Given the description of an element on the screen output the (x, y) to click on. 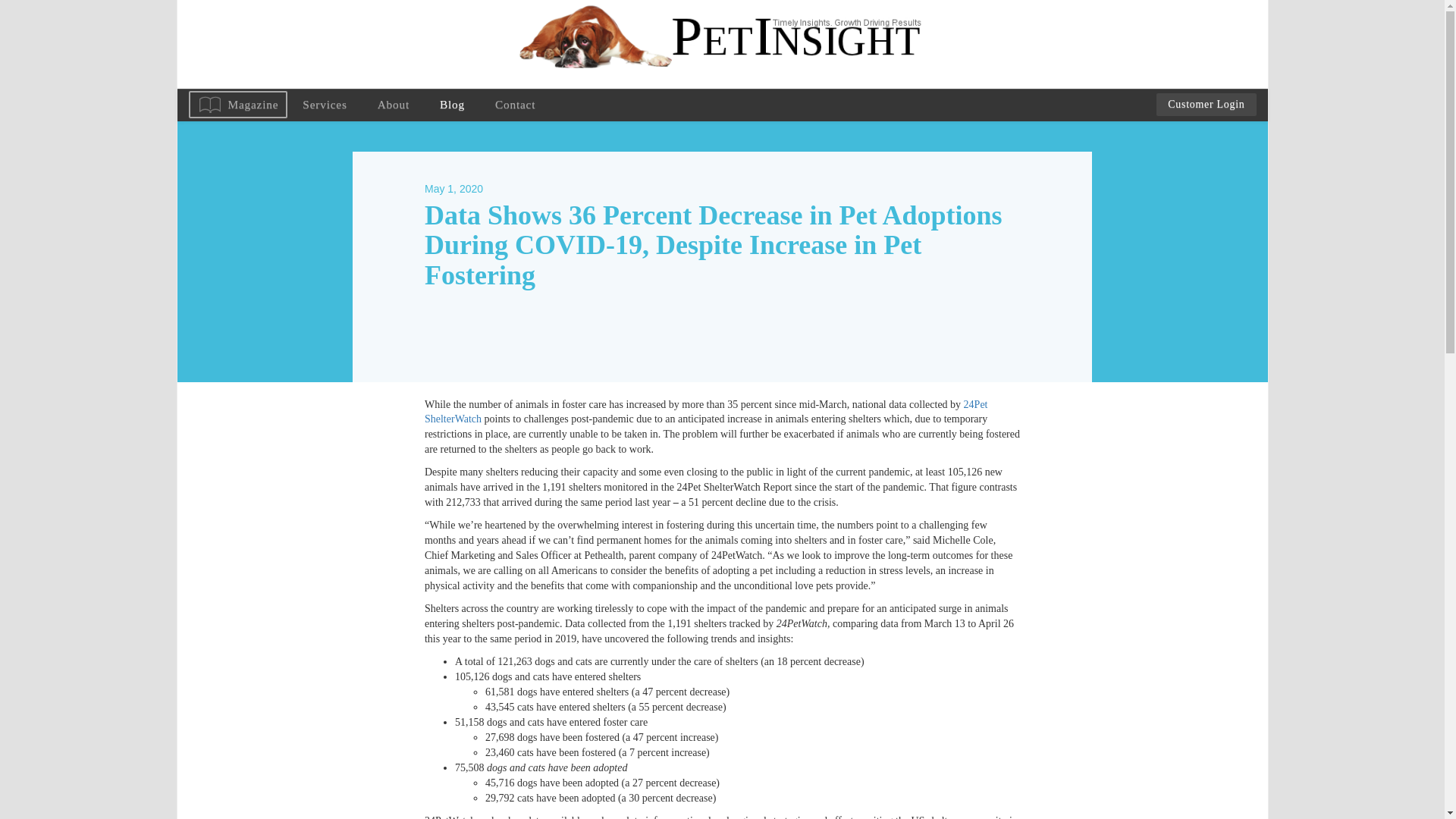
About (393, 103)
Blog (452, 103)
Magazine (237, 104)
Contact (515, 103)
24Pet ShelterWatch (706, 411)
Services (323, 103)
Customer Login (1205, 104)
